Given the description of an element on the screen output the (x, y) to click on. 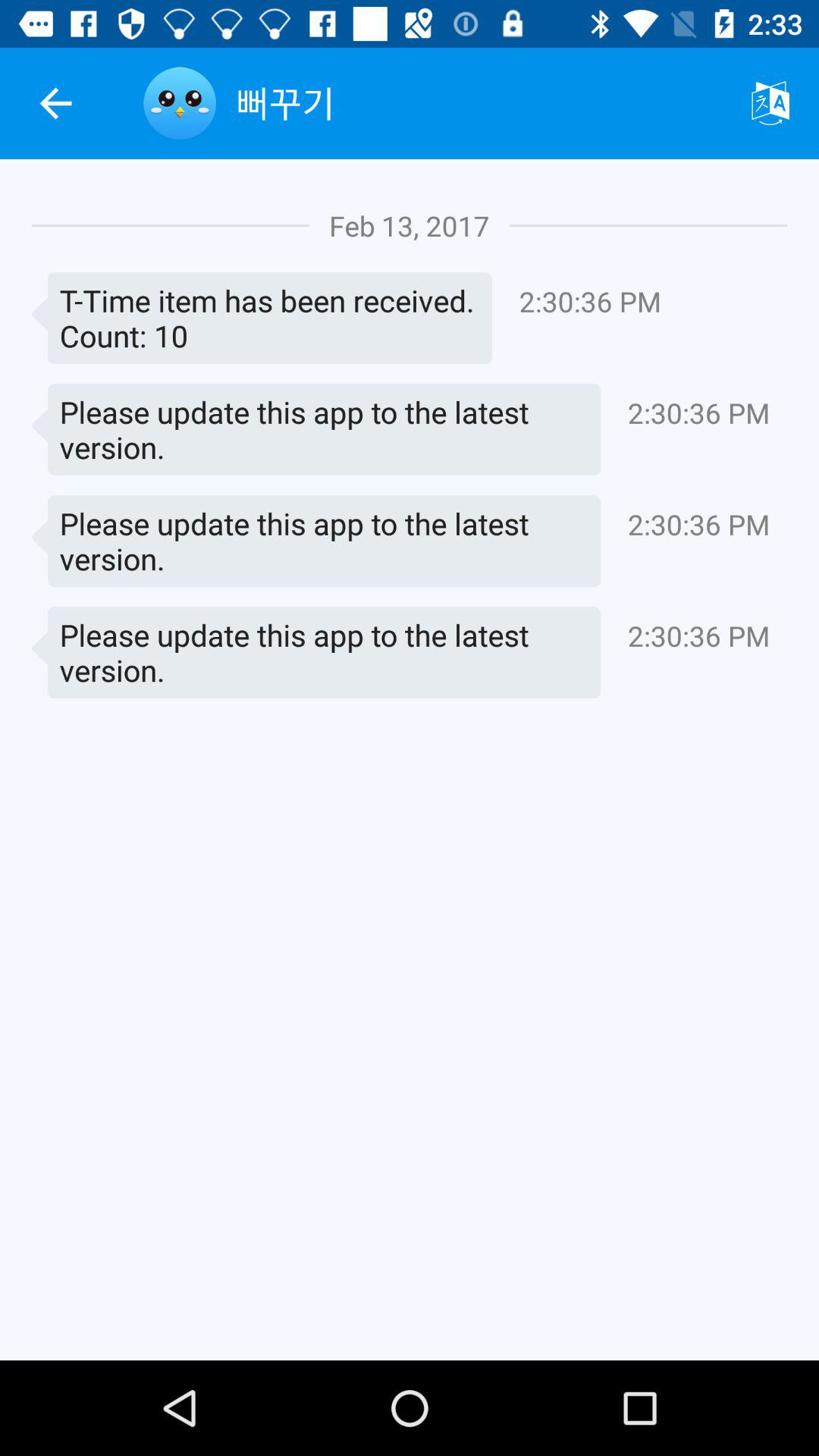
turn on the t time item item (261, 318)
